Given the description of an element on the screen output the (x, y) to click on. 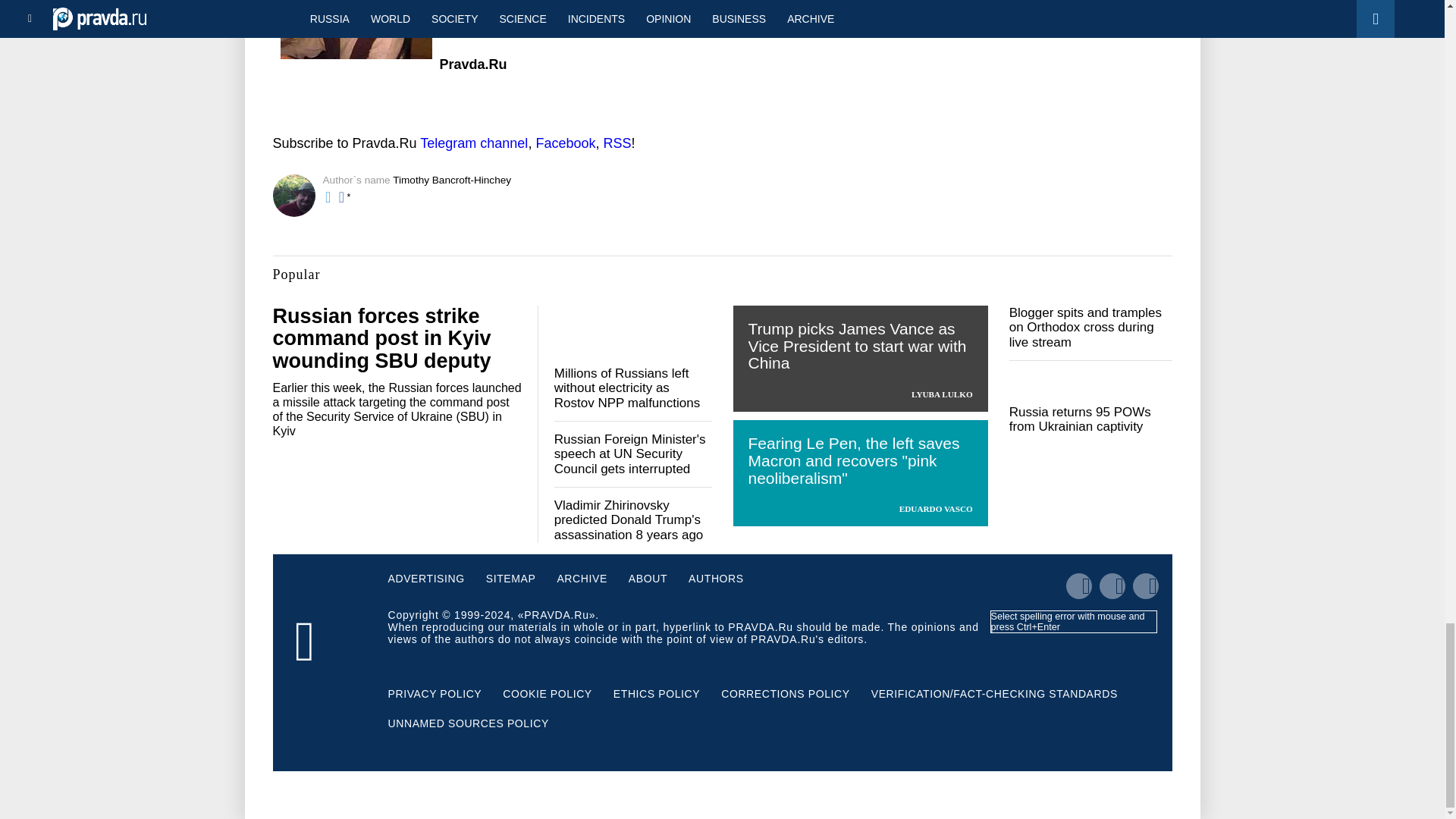
Facebook (565, 142)
Timothy Bancroft-Hinchey (452, 179)
Telegram channel (473, 142)
RSS (616, 142)
